Given the description of an element on the screen output the (x, y) to click on. 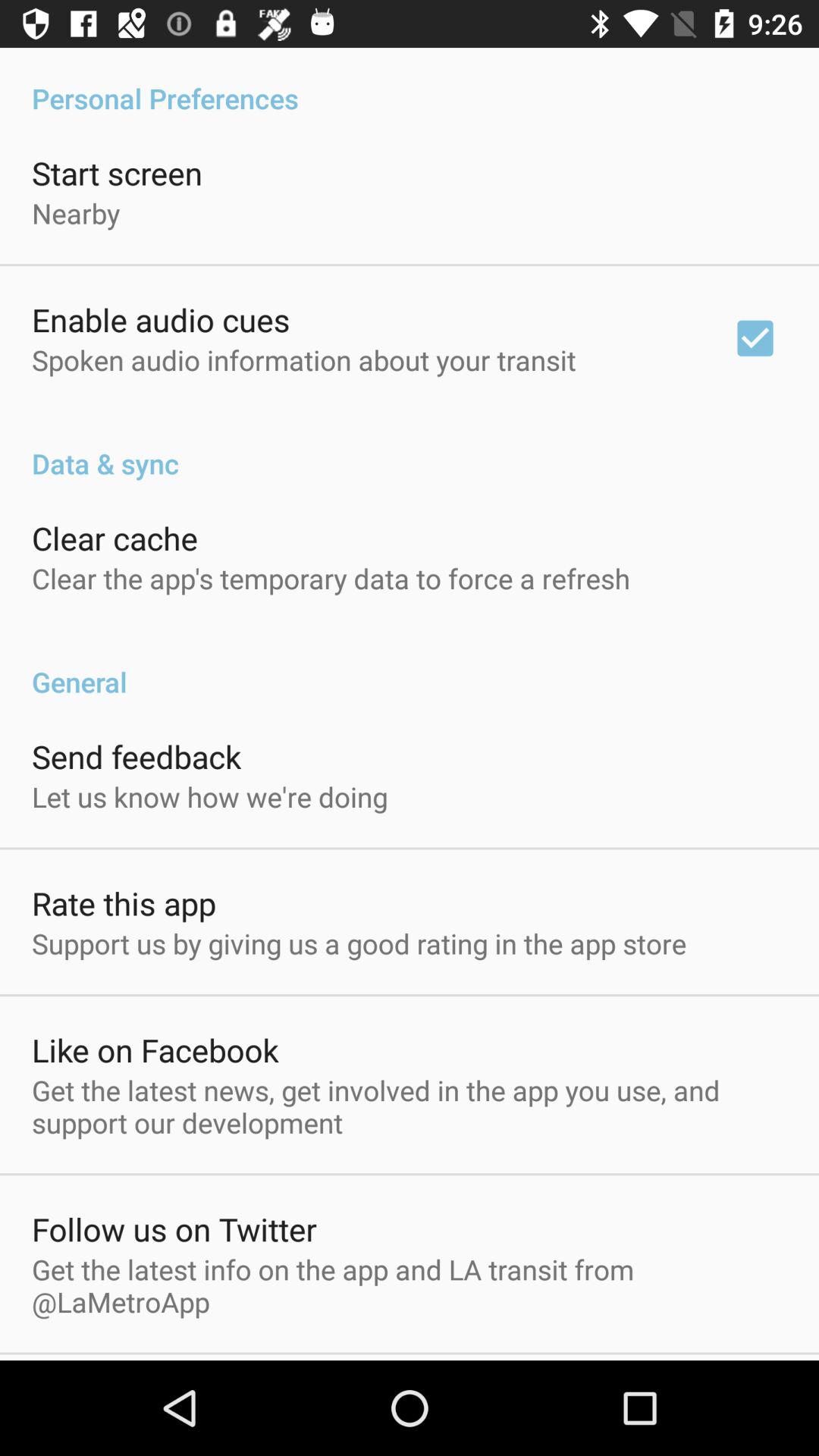
tap the item below enable audio cues (303, 359)
